Given the description of an element on the screen output the (x, y) to click on. 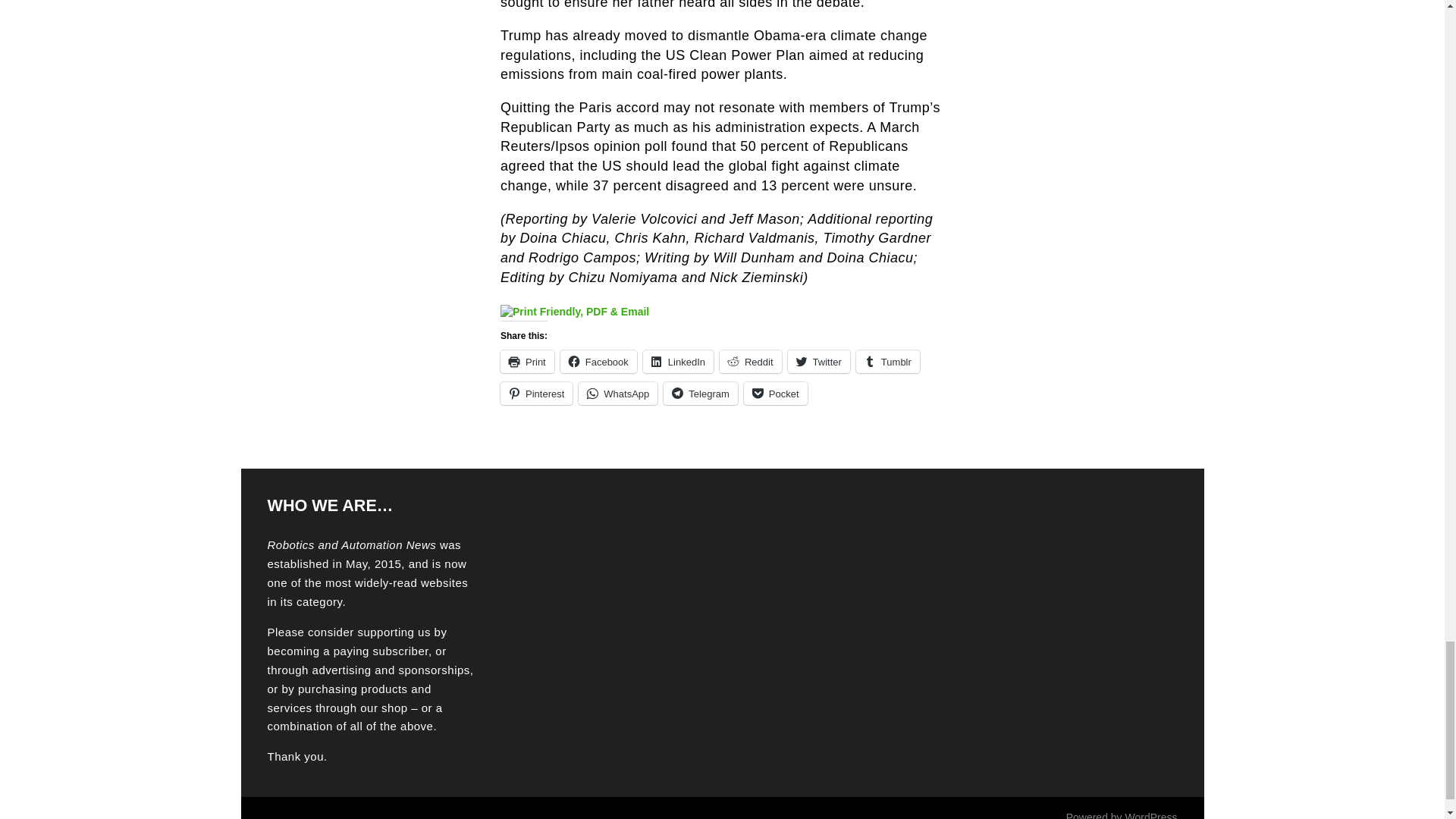
Click to share on LinkedIn (678, 361)
Click to share on Pocket (776, 393)
Click to print (527, 361)
Click to share on Twitter (818, 361)
Click to share on Facebook (598, 361)
Click to share on Tumblr (888, 361)
Click to share on Reddit (750, 361)
Click to share on Pinterest (536, 393)
Click to share on Telegram (699, 393)
Click to share on WhatsApp (618, 393)
